Given the description of an element on the screen output the (x, y) to click on. 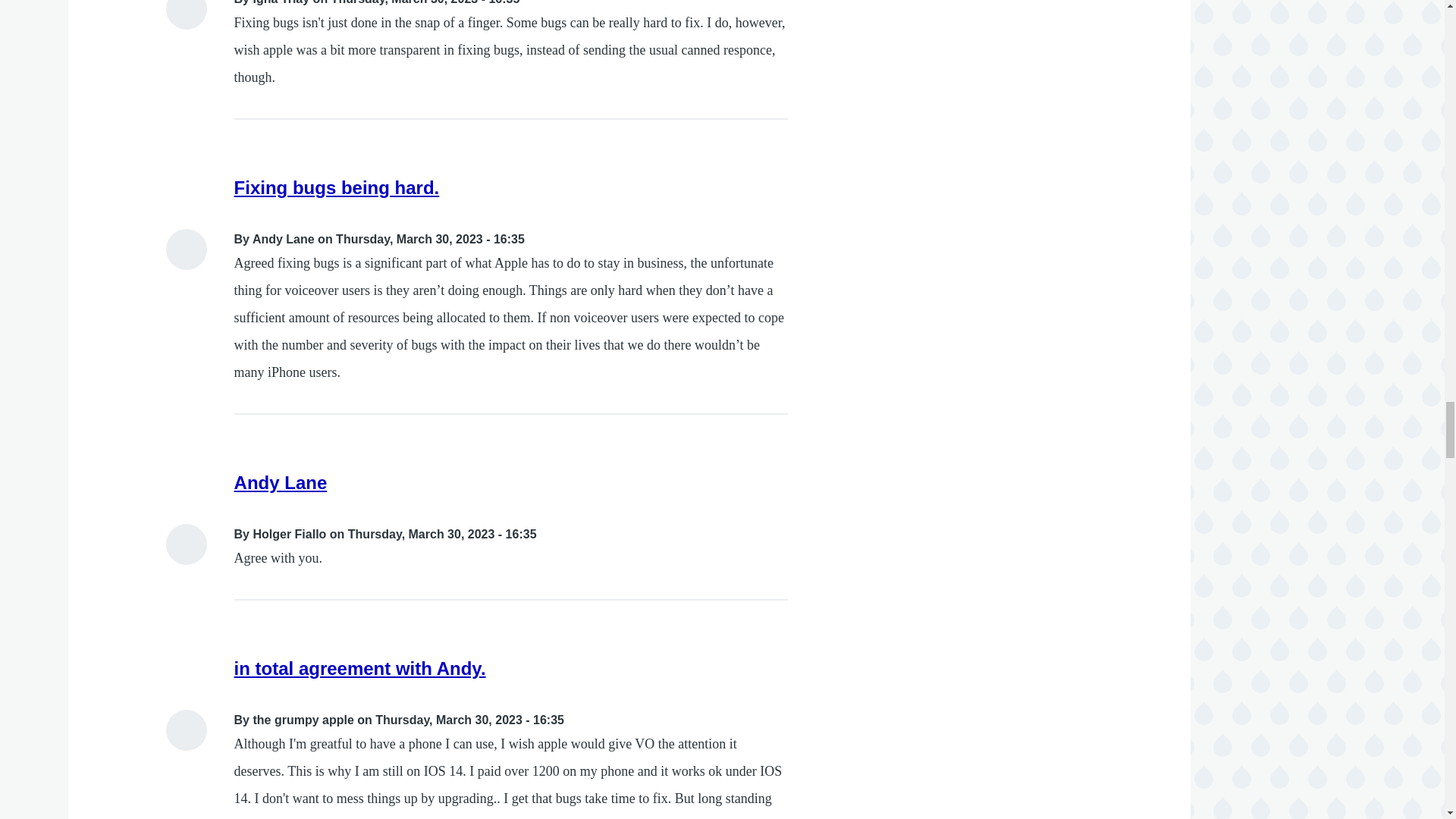
in total agreement with Andy. (360, 668)
Fixing bugs being hard. (336, 187)
Andy Lane (280, 482)
